Given the description of an element on the screen output the (x, y) to click on. 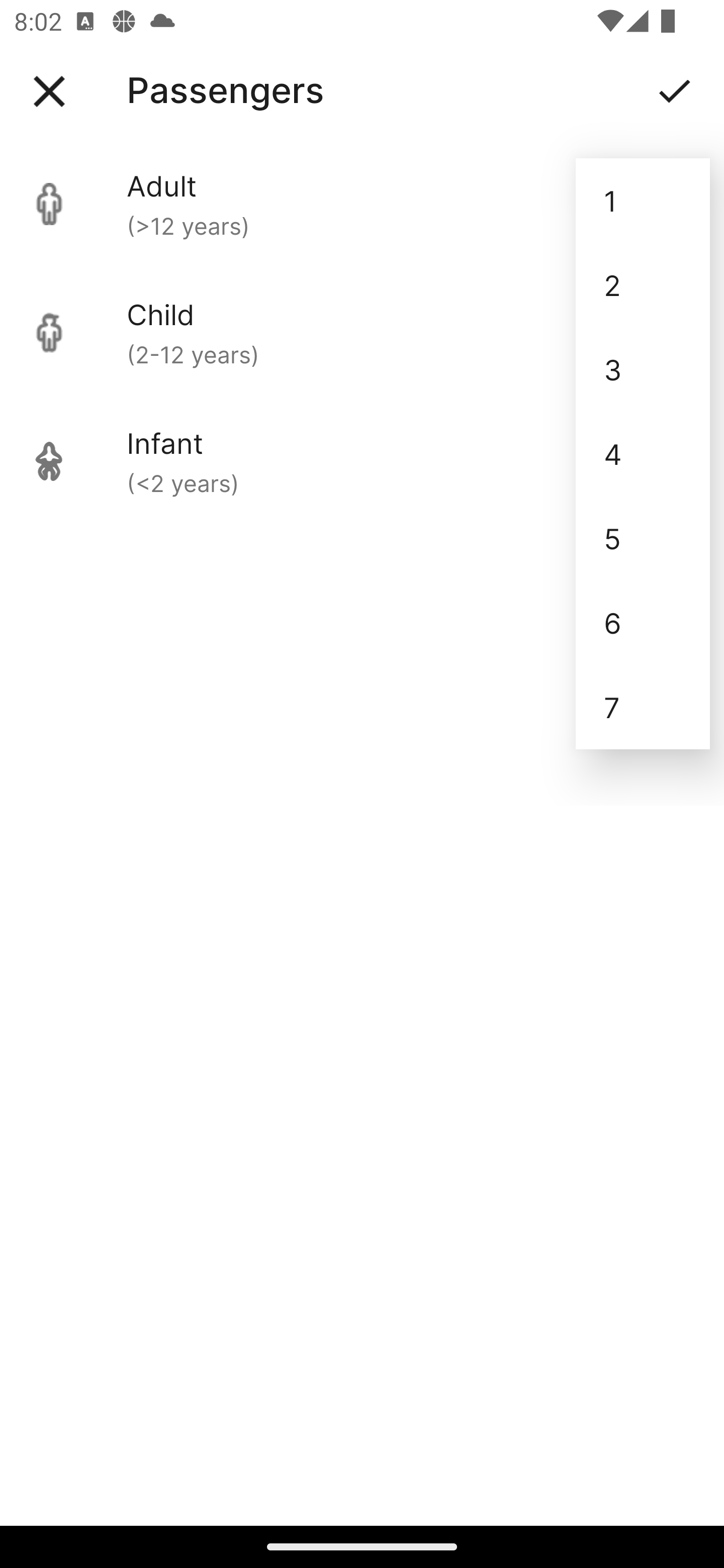
1 (642, 200)
2 (642, 285)
3 (642, 368)
4 (642, 452)
5 (642, 537)
6 (642, 622)
7 (642, 706)
